Given the description of an element on the screen output the (x, y) to click on. 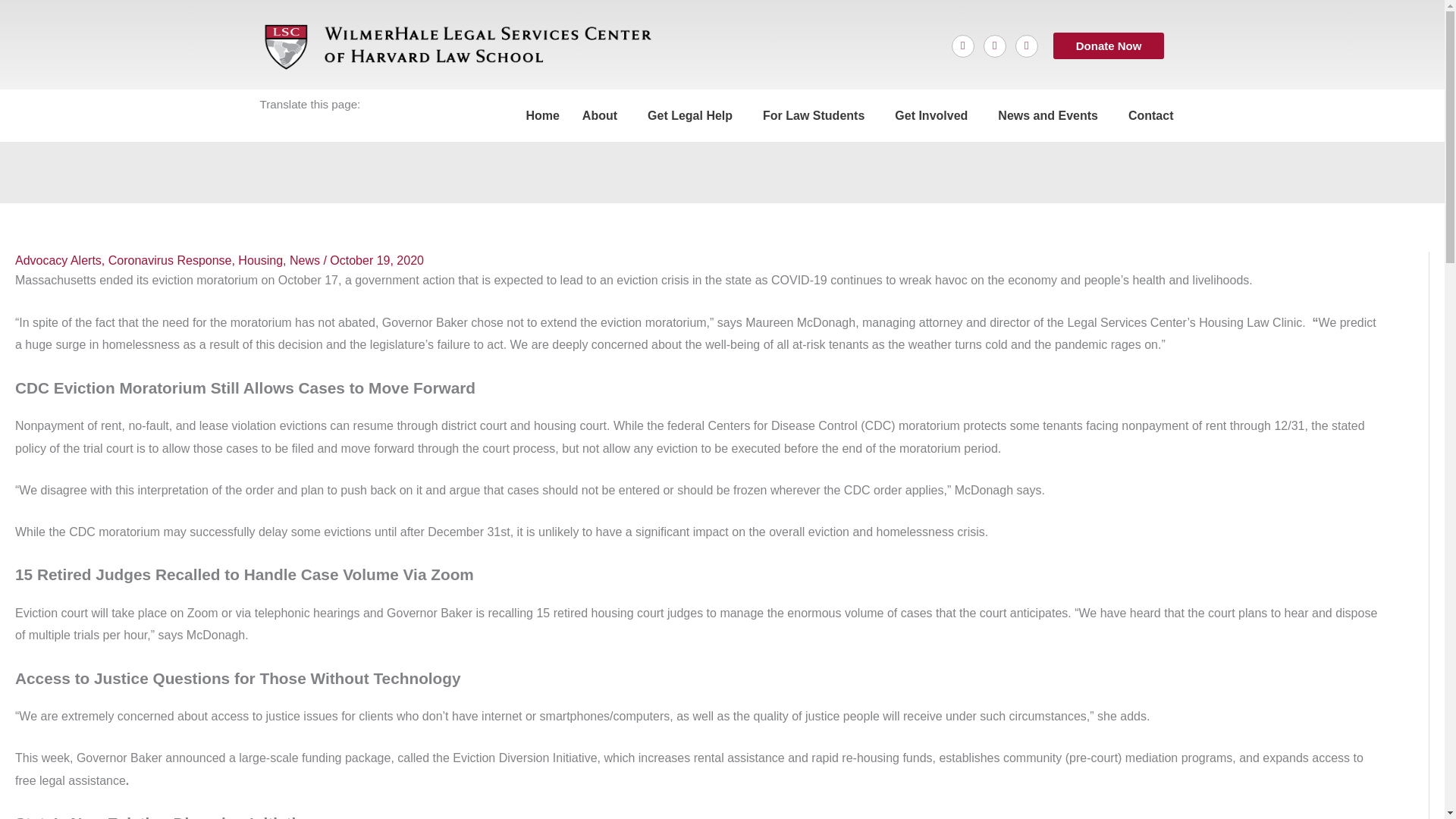
For Law Students (817, 115)
About (603, 115)
Donate Now (1108, 45)
Facebook-f (963, 46)
Get Legal Help (693, 115)
Twitter (995, 46)
Instagram (1026, 46)
Home (541, 115)
